Given the description of an element on the screen output the (x, y) to click on. 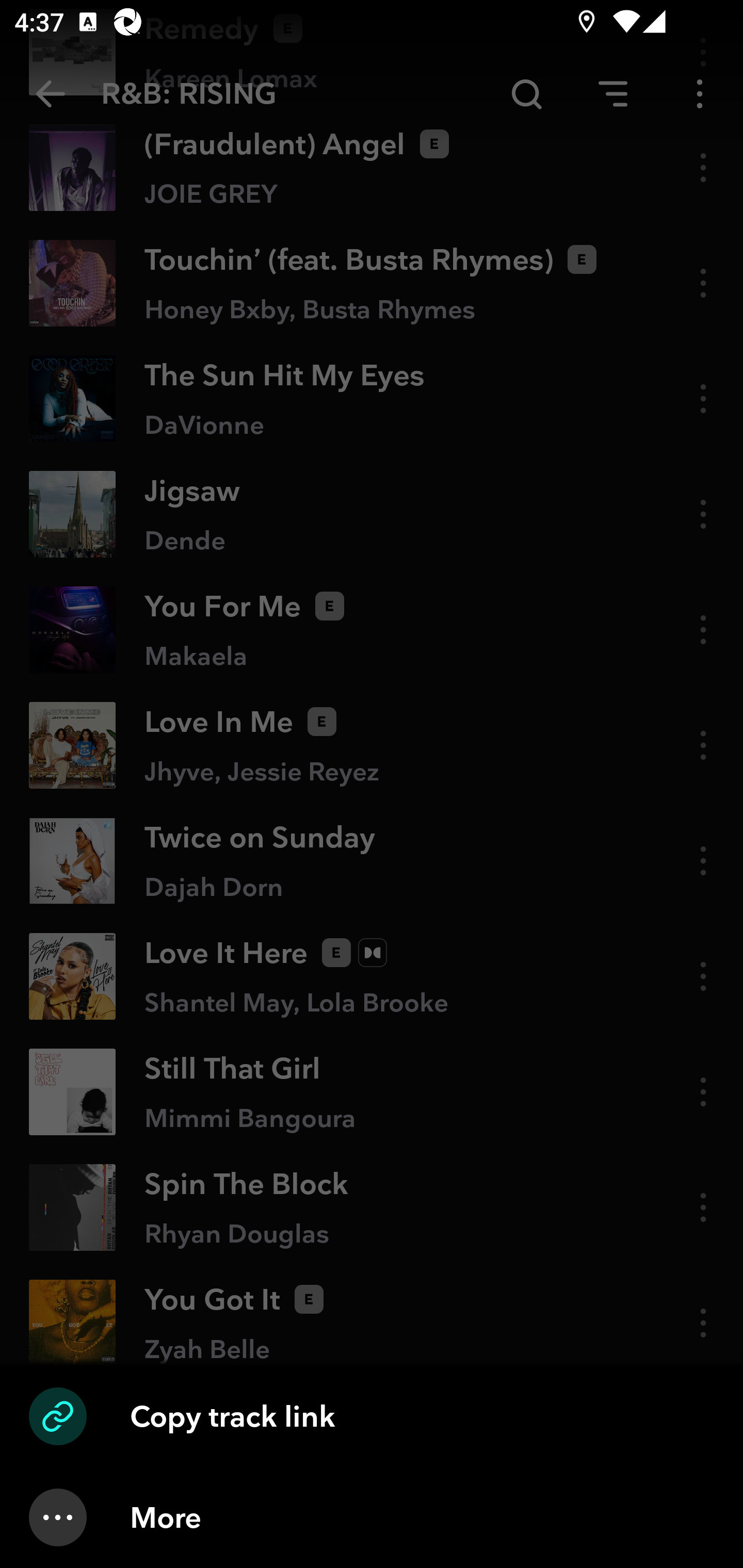
Copy track link (371, 1416)
More (371, 1517)
